Given the description of an element on the screen output the (x, y) to click on. 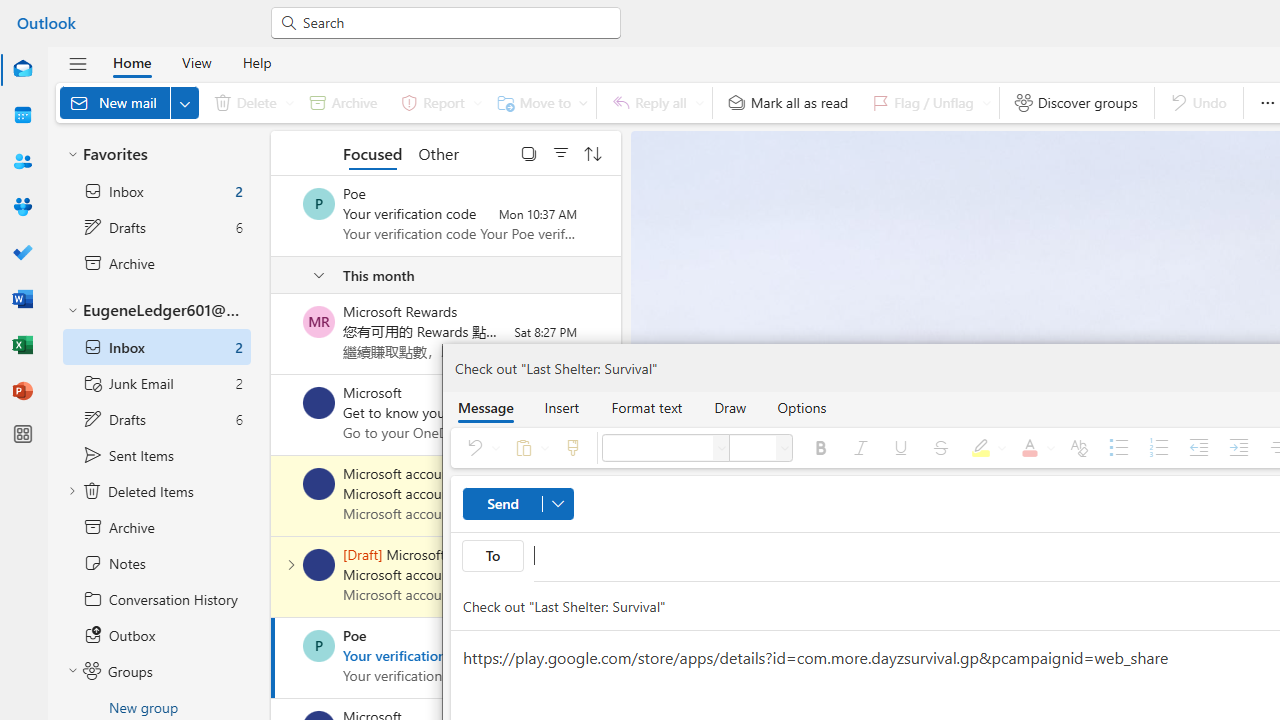
Archive (343, 102)
Poe (319, 645)
Reply all (654, 102)
Message (485, 407)
Expand to see more respond options (699, 102)
Select (529, 152)
Paste (528, 447)
Strikethrough (941, 447)
People (22, 161)
Clear formatting (1078, 447)
Focused (372, 152)
Other (438, 152)
Font size (752, 448)
Expand to see flag options (985, 102)
